Given the description of an element on the screen output the (x, y) to click on. 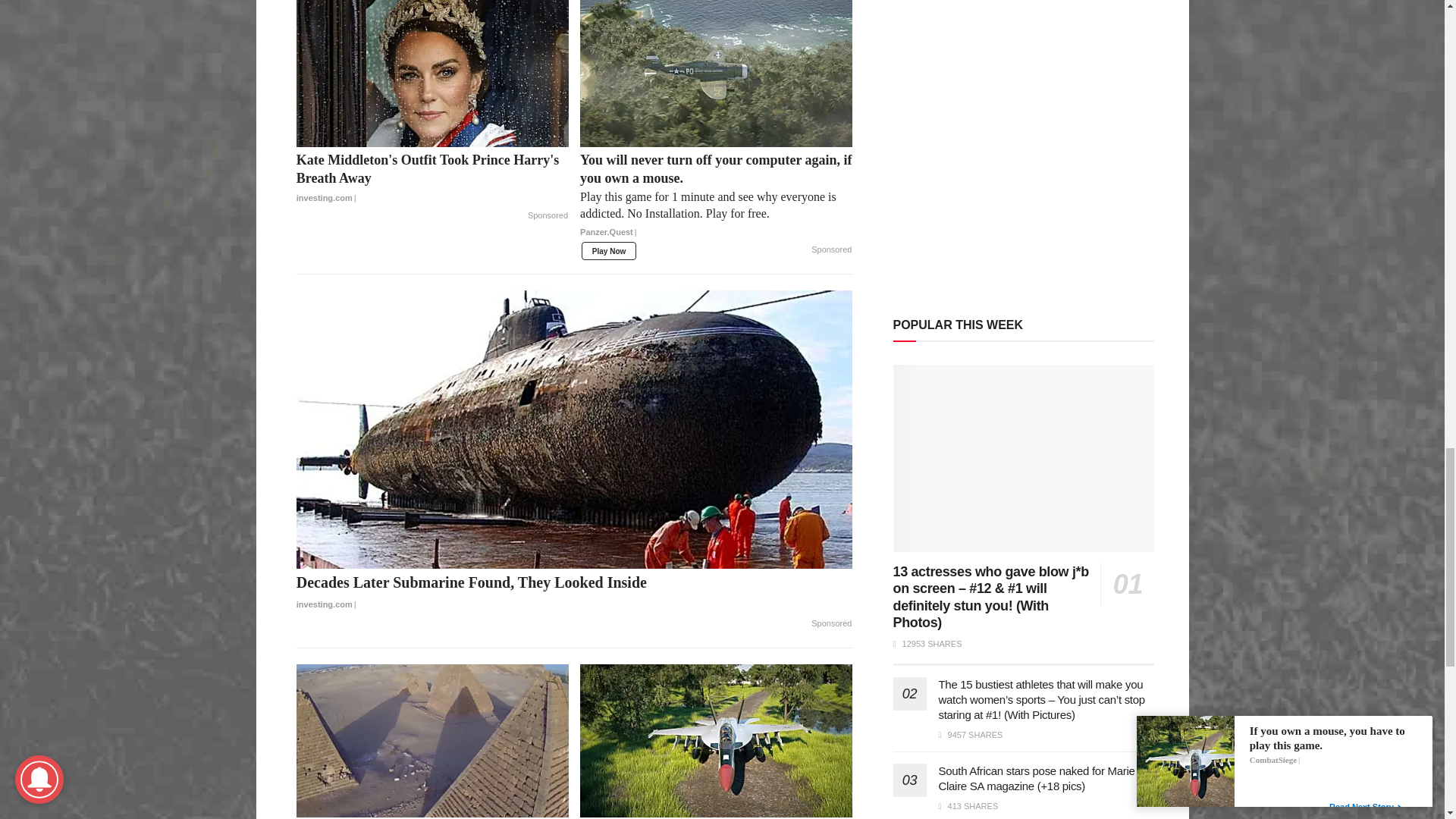
Kate Middleton's Outfit Took Prince Harry's Breath Away (433, 178)
